Given the description of an element on the screen output the (x, y) to click on. 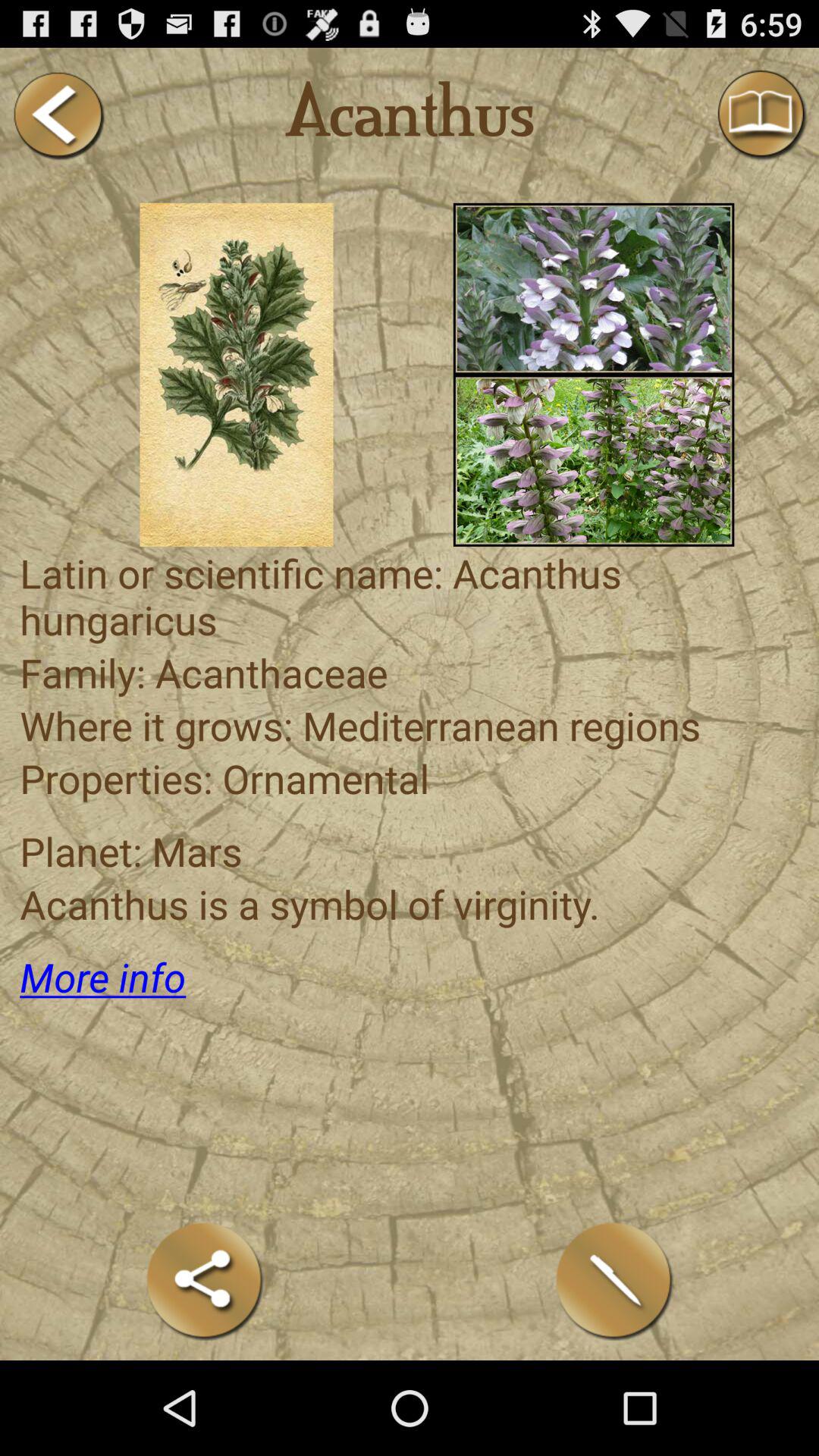
more than 70 plants cataloged in alphabetical order you can see for your rituals (593, 288)
